Given the description of an element on the screen output the (x, y) to click on. 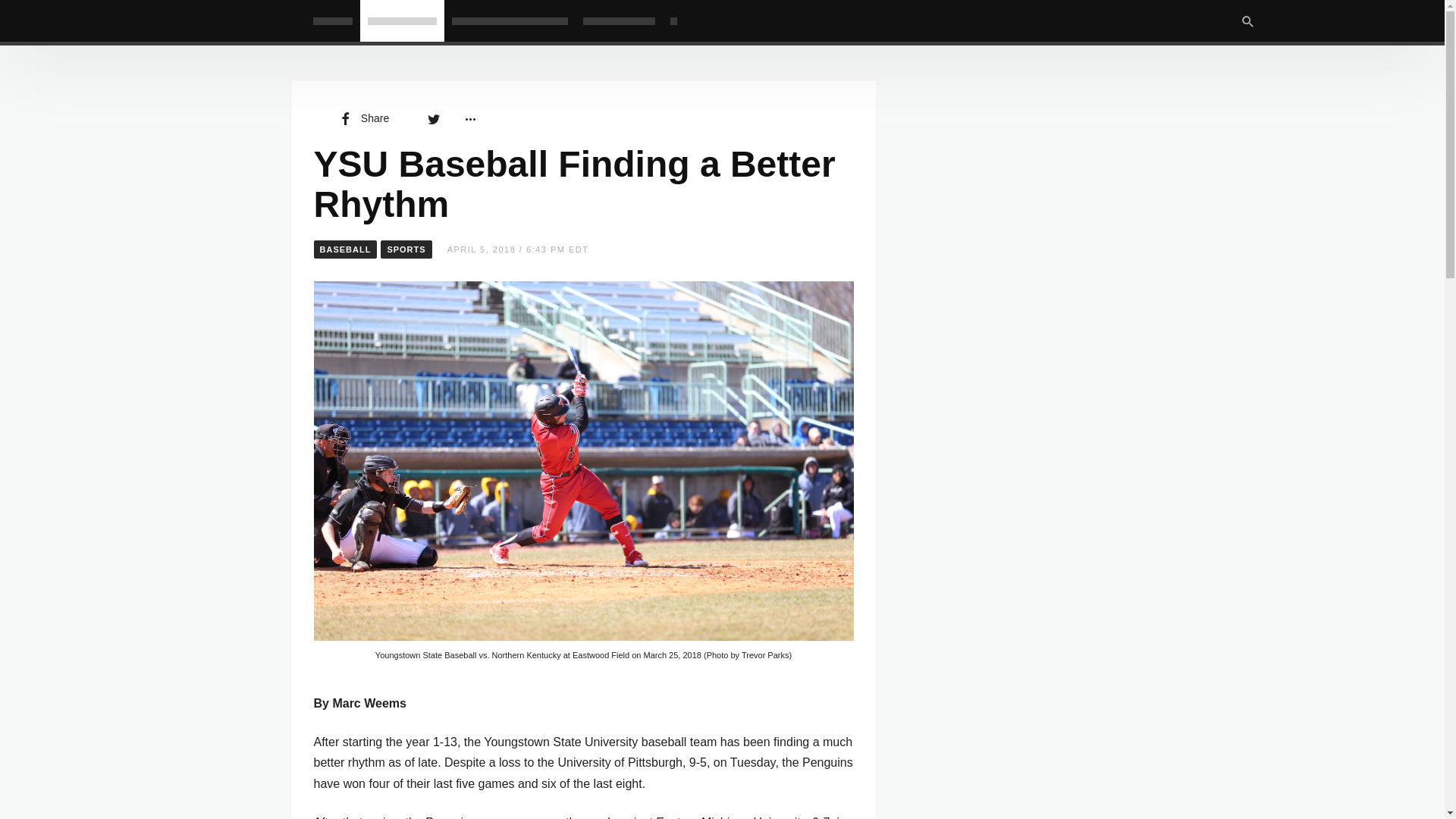
Share on Facebook (363, 118)
View all posts in Baseball (345, 249)
More (469, 118)
View all posts in Sports (405, 249)
Share on Twitter (433, 118)
